Given the description of an element on the screen output the (x, y) to click on. 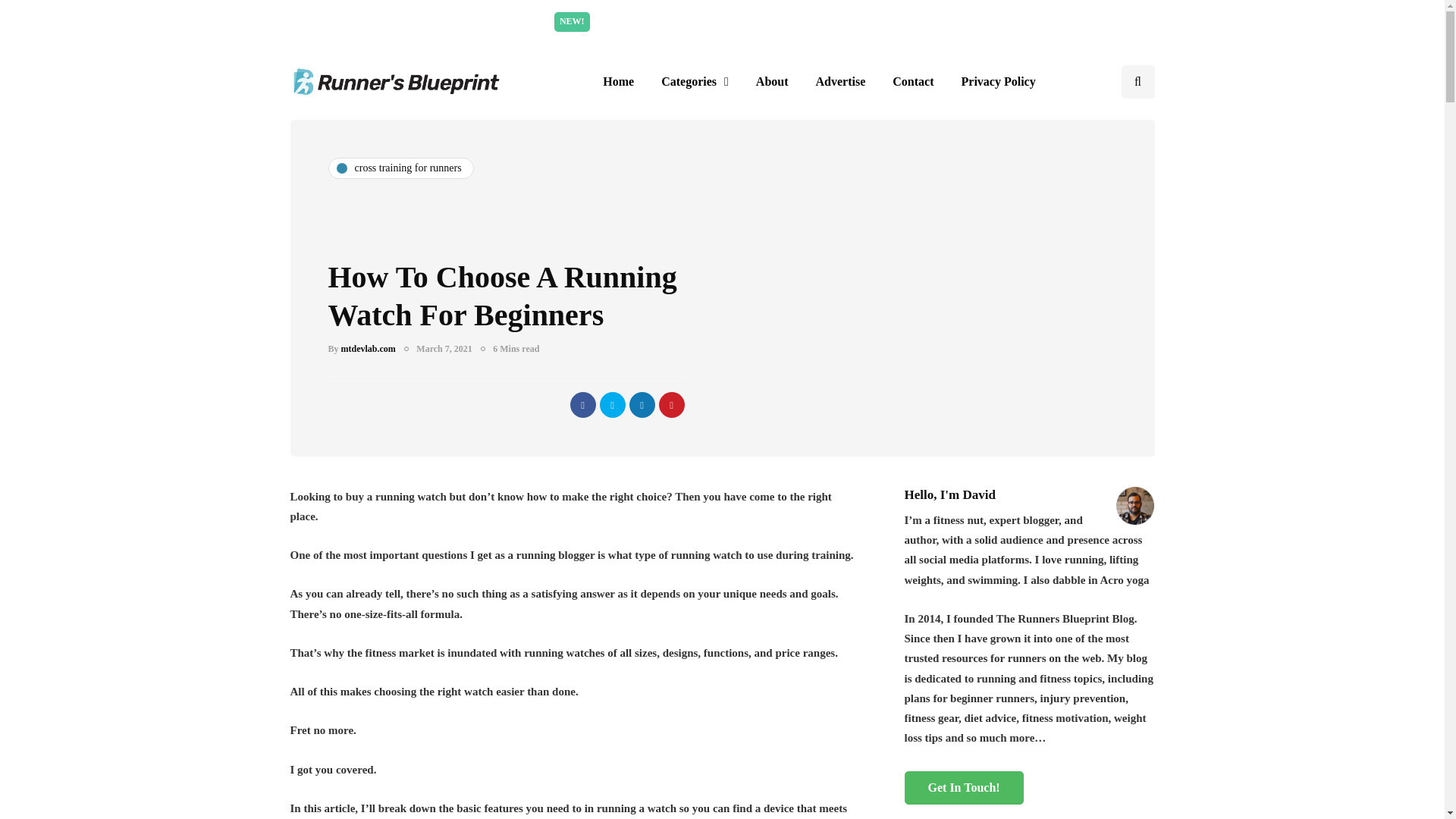
Categories (694, 81)
Advertise (840, 81)
About (772, 81)
Tweet this (611, 404)
Privacy Policy (998, 81)
cross training for runners (400, 168)
mtdevlab.com (368, 348)
Pin this (671, 404)
Share with LinkedIn (641, 404)
Share with Facebook (582, 404)
